Given the description of an element on the screen output the (x, y) to click on. 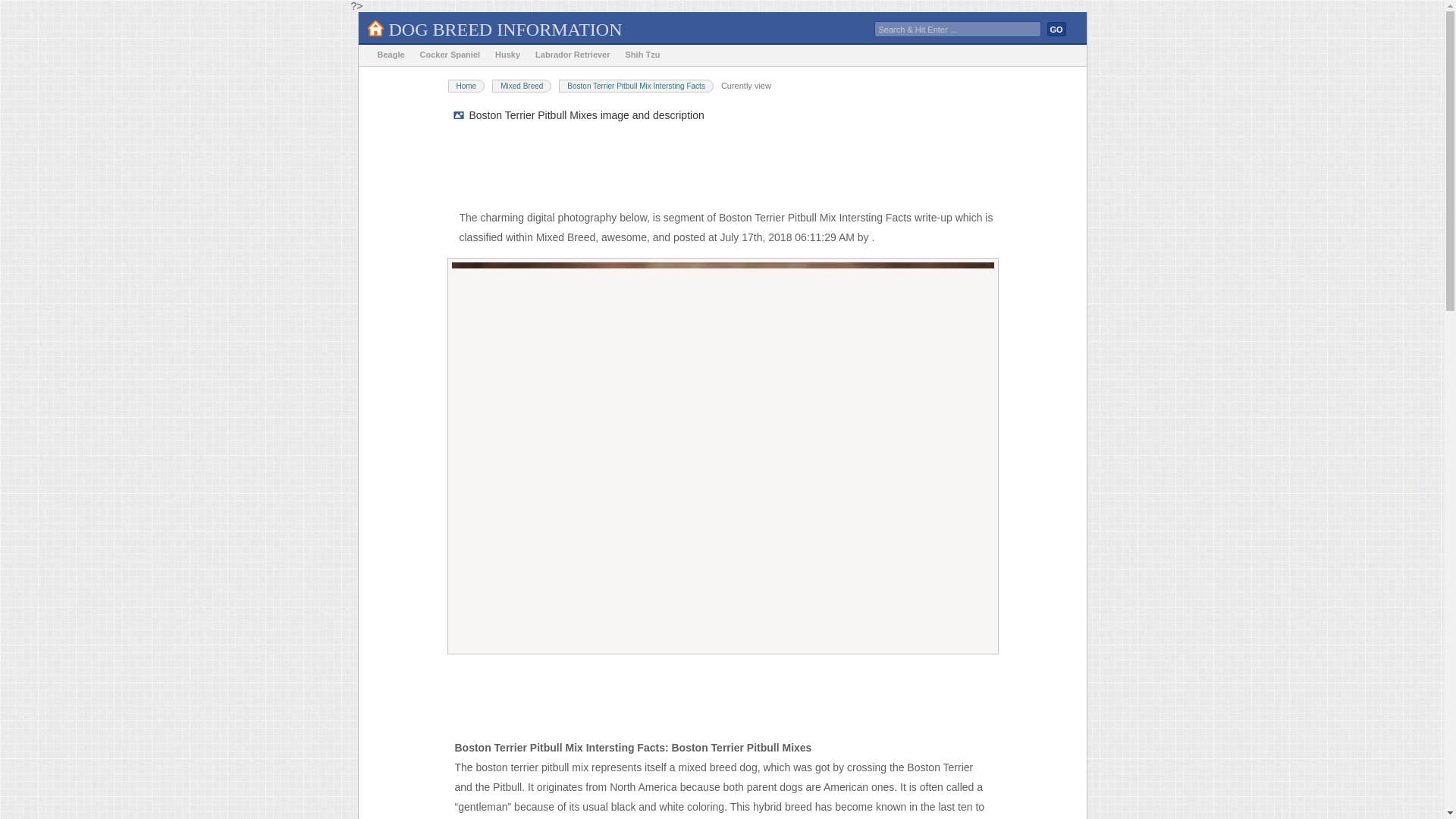
Husky (507, 54)
Home (465, 85)
Mixed Breed (521, 85)
Labrador Retriever (572, 54)
Dog Breed Information (504, 29)
Boston Terrier Pitbull Mix Intersting Facts (636, 85)
Cocker Spaniel (449, 54)
Shih Tzu (642, 54)
Beagle (390, 54)
GO (1055, 29)
